Given the description of an element on the screen output the (x, y) to click on. 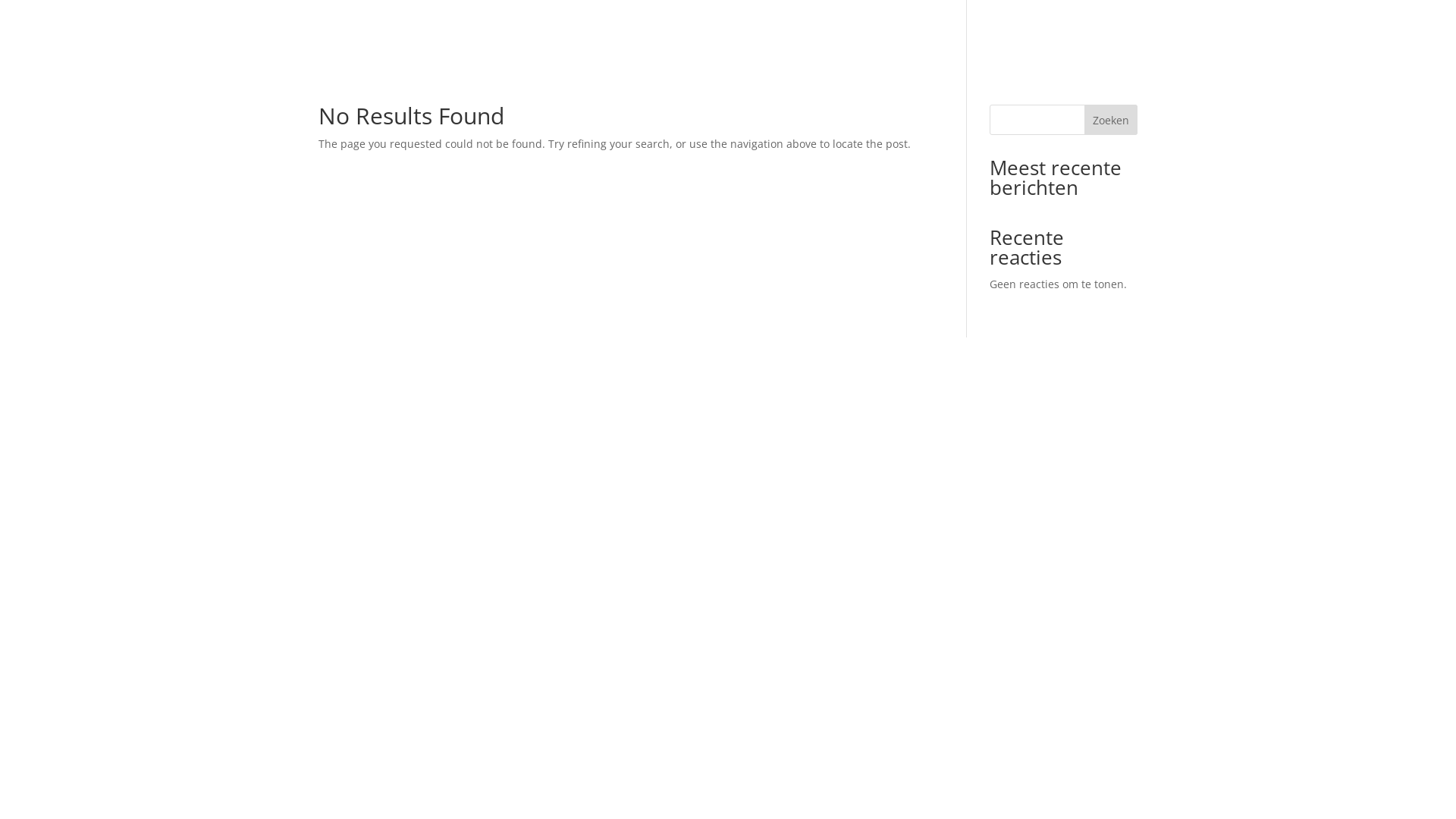
Contact Element type: text (1116, 42)
Zoeken Element type: text (1110, 119)
